Given the description of an element on the screen output the (x, y) to click on. 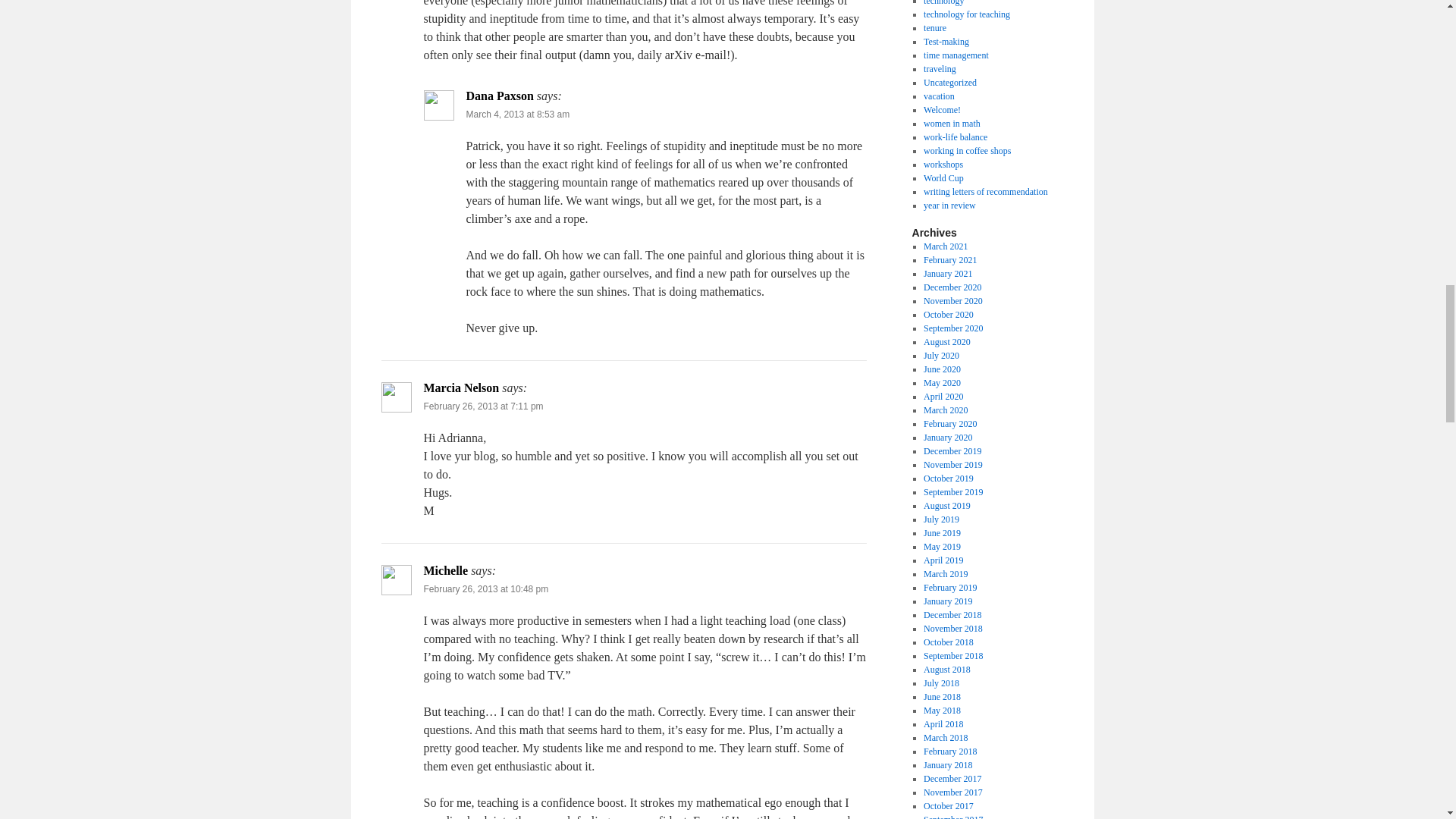
February 26, 2013 at 7:11 pm (483, 406)
March 4, 2013 at 8:53 am (517, 113)
February 26, 2013 at 10:48 pm (485, 588)
